Given the description of an element on the screen output the (x, y) to click on. 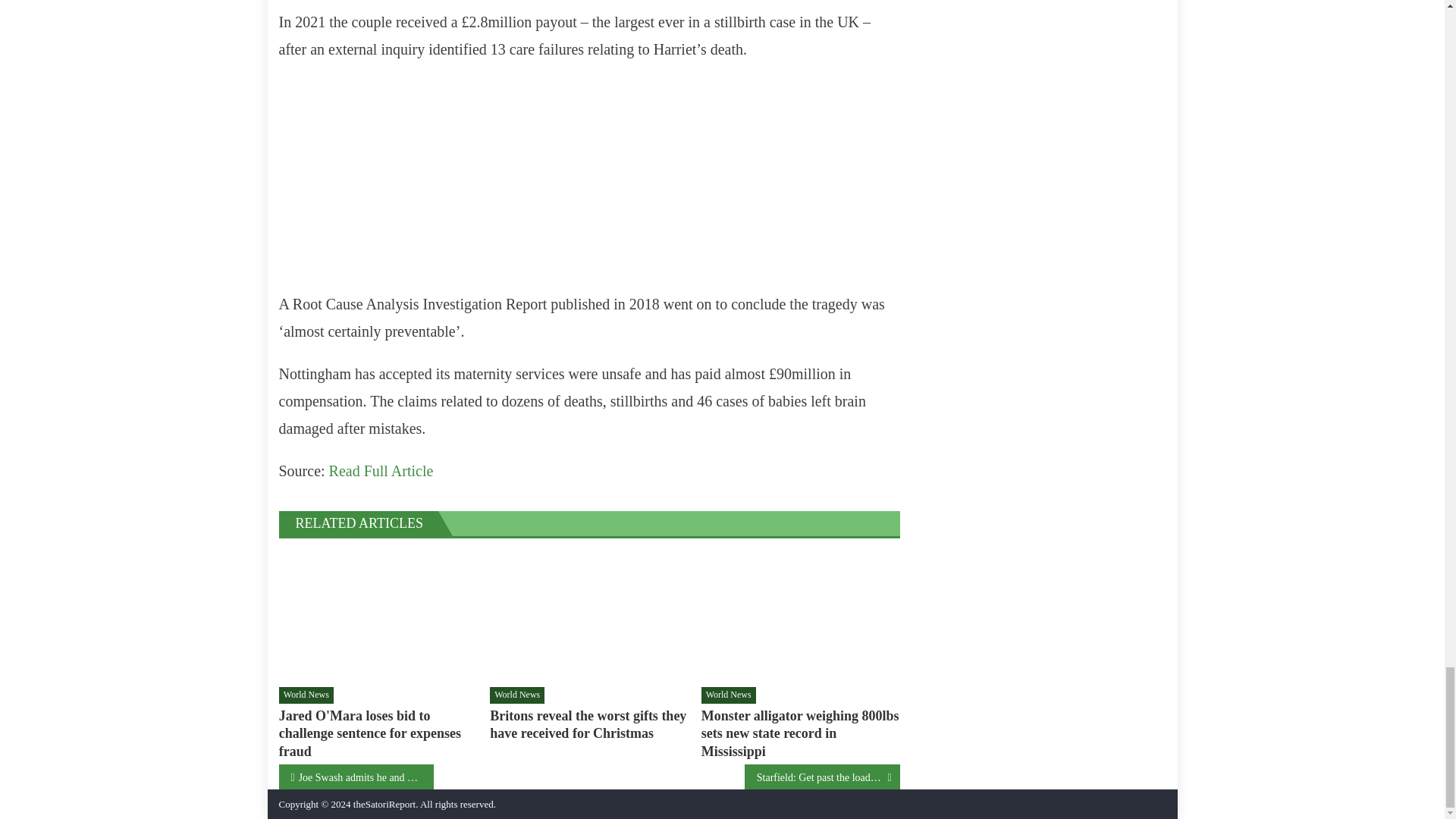
World News (516, 695)
World News (728, 695)
Read Full Article (381, 470)
World News (306, 695)
